Given the description of an element on the screen output the (x, y) to click on. 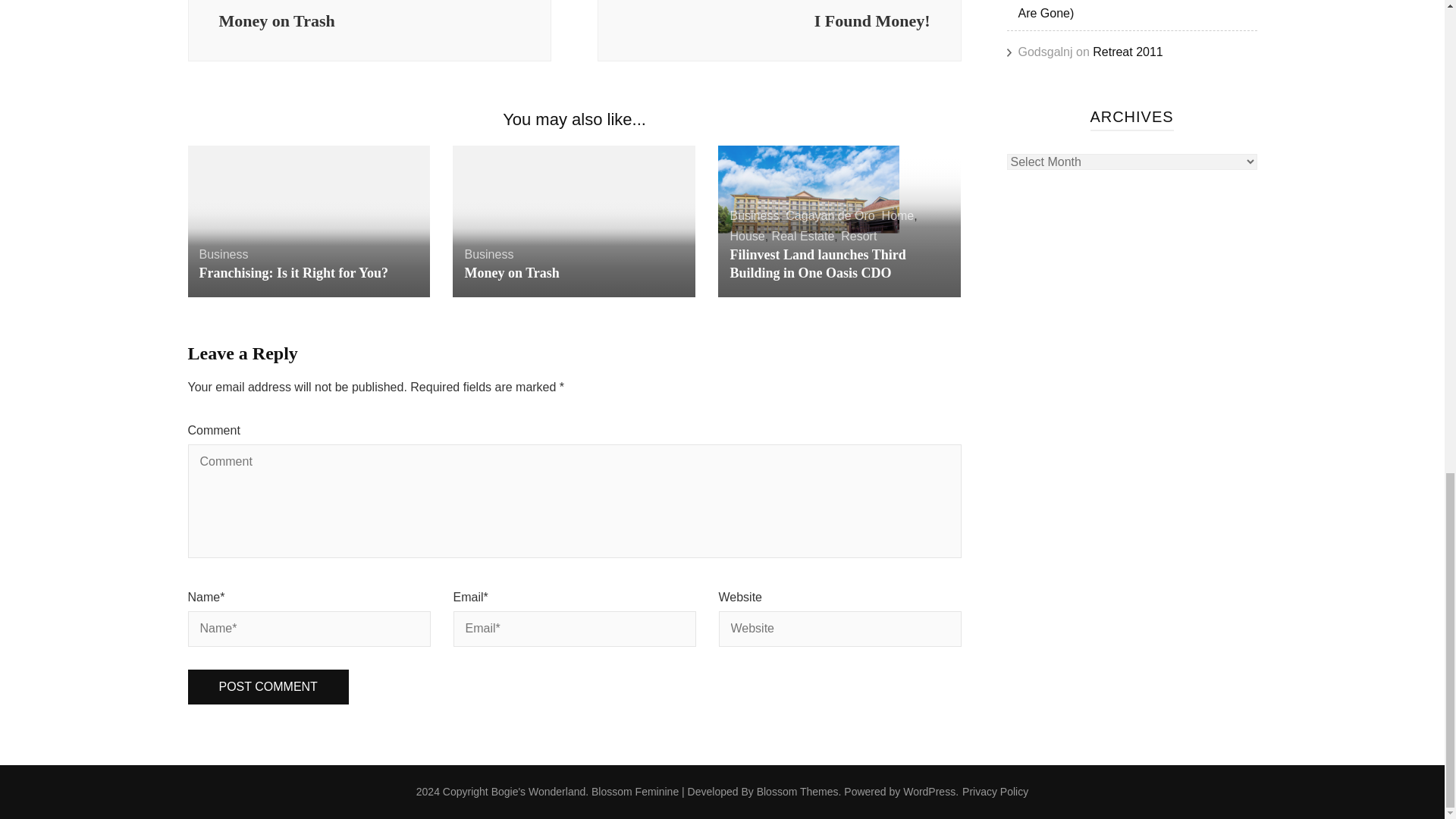
Home (898, 215)
Filinvest Land launches Third Building in One Oasis CDO (817, 263)
Post Comment (268, 687)
Franchising: Is it Right for You? (293, 272)
Money on Trash (511, 272)
Real Estate (778, 30)
Resort (802, 236)
Business (858, 236)
Business (753, 215)
